Given the description of an element on the screen output the (x, y) to click on. 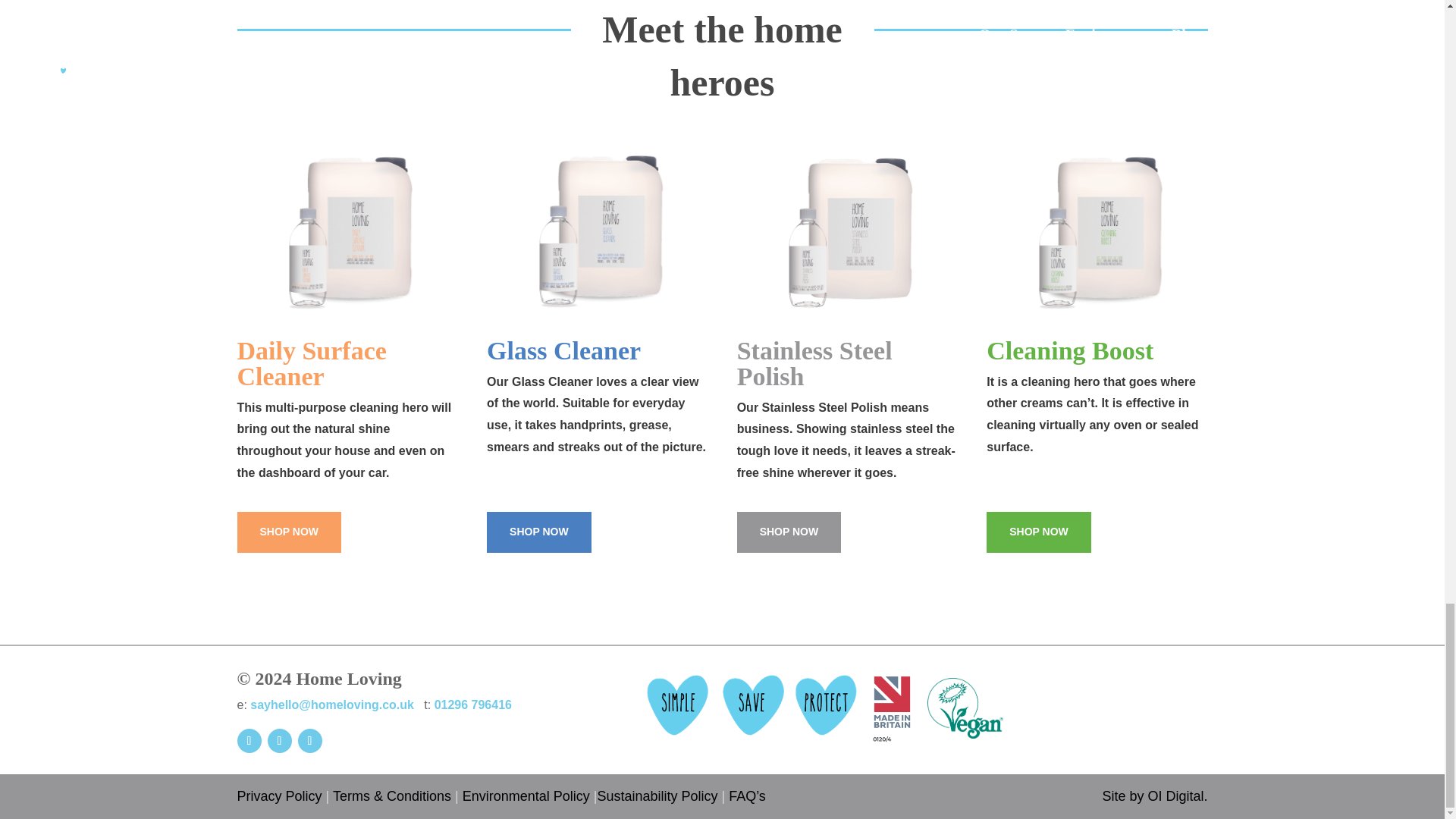
Follow on Twitter (309, 740)
Follow on Facebook (247, 740)
VeganTM-Palette1-VEGAN-GREEN (965, 708)
SHOP NOW (788, 531)
SHOP NOW (538, 531)
hl-made-in-britain (892, 708)
Simple Save Protect (751, 704)
Follow on Instagram (278, 740)
SHOP NOW (287, 531)
